Given the description of an element on the screen output the (x, y) to click on. 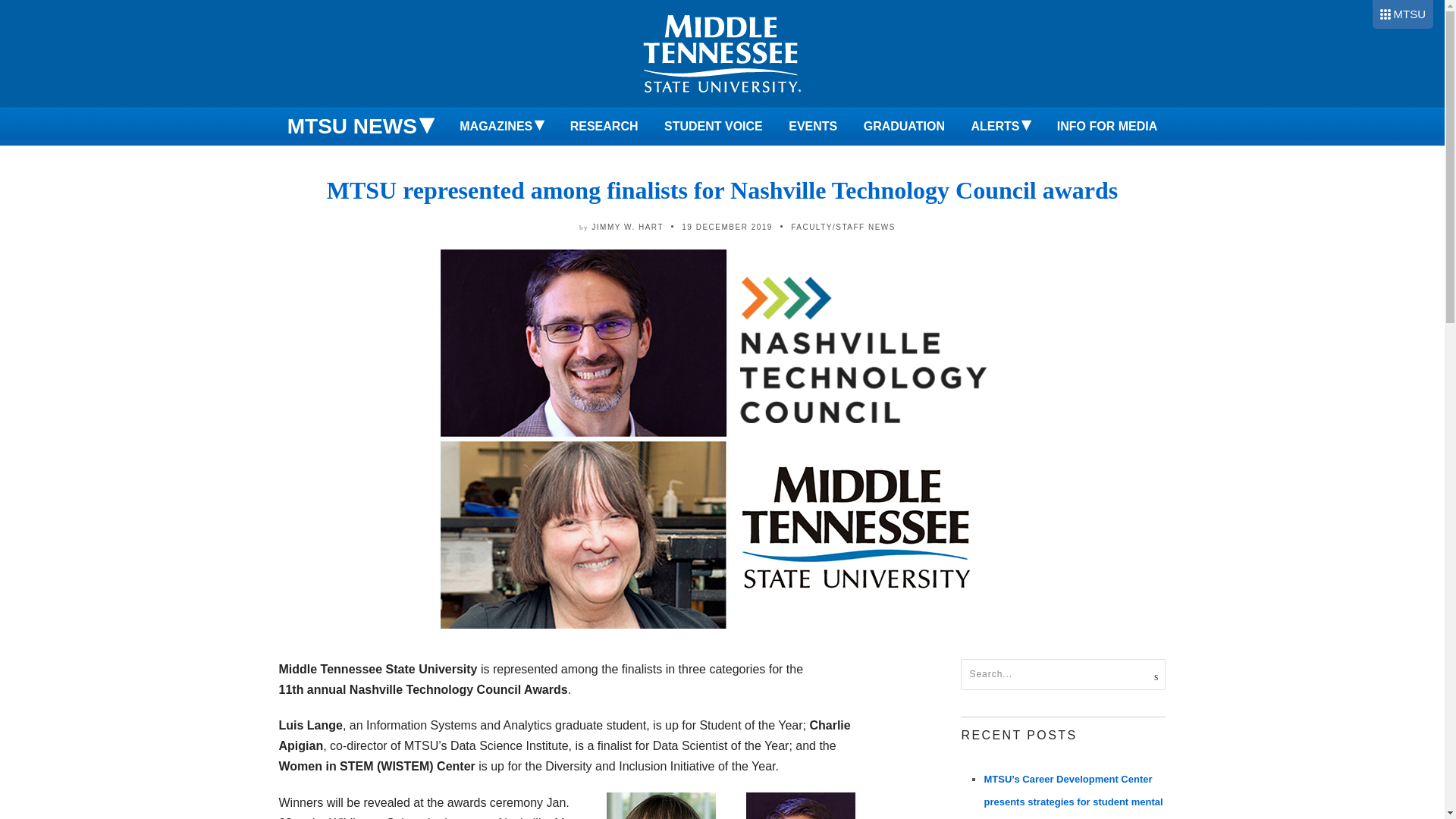
December 19, 2019 3:27 (727, 226)
Posts by Jimmy W. Hart (627, 226)
